Given the description of an element on the screen output the (x, y) to click on. 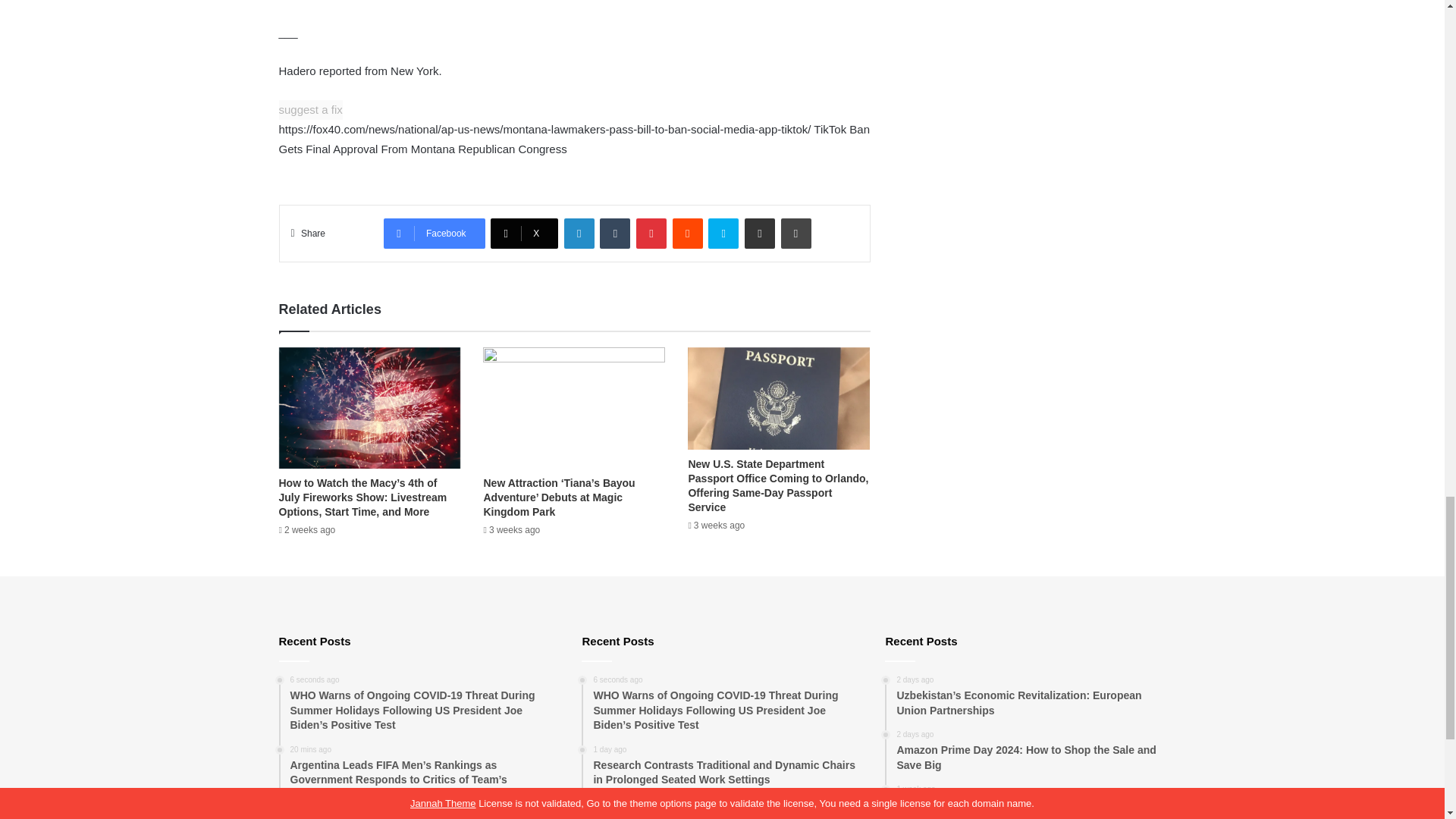
Skype (722, 233)
Tumblr (614, 233)
Skype (722, 233)
Facebook (434, 233)
Print (795, 233)
X (523, 233)
Reddit (687, 233)
X (523, 233)
Pinterest (651, 233)
Reddit (687, 233)
LinkedIn (579, 233)
suggest a fix (310, 109)
Pinterest (651, 233)
LinkedIn (579, 233)
Facebook (434, 233)
